Given the description of an element on the screen output the (x, y) to click on. 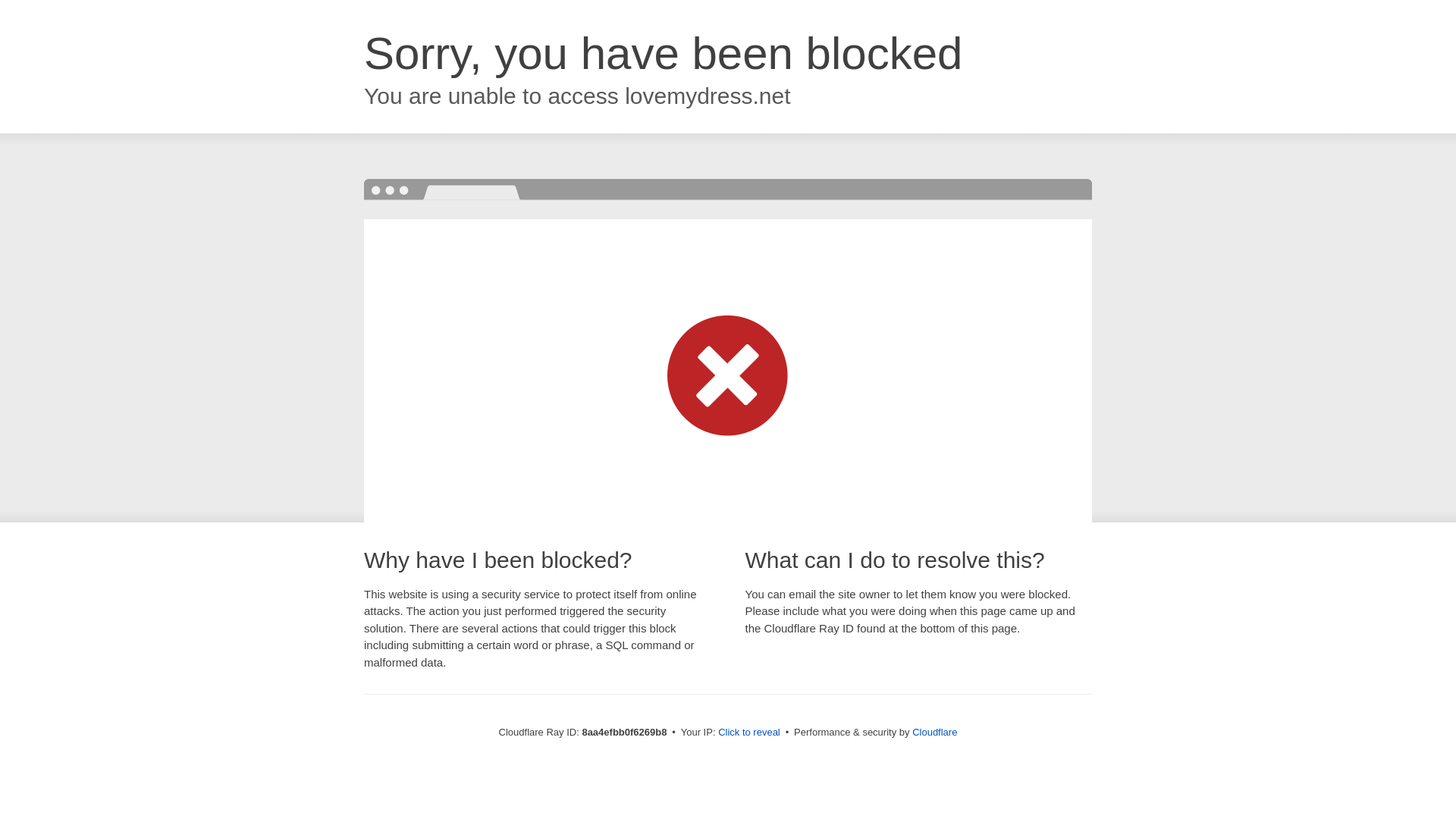
Click to reveal (748, 732)
Cloudflare (934, 731)
